Given the description of an element on the screen output the (x, y) to click on. 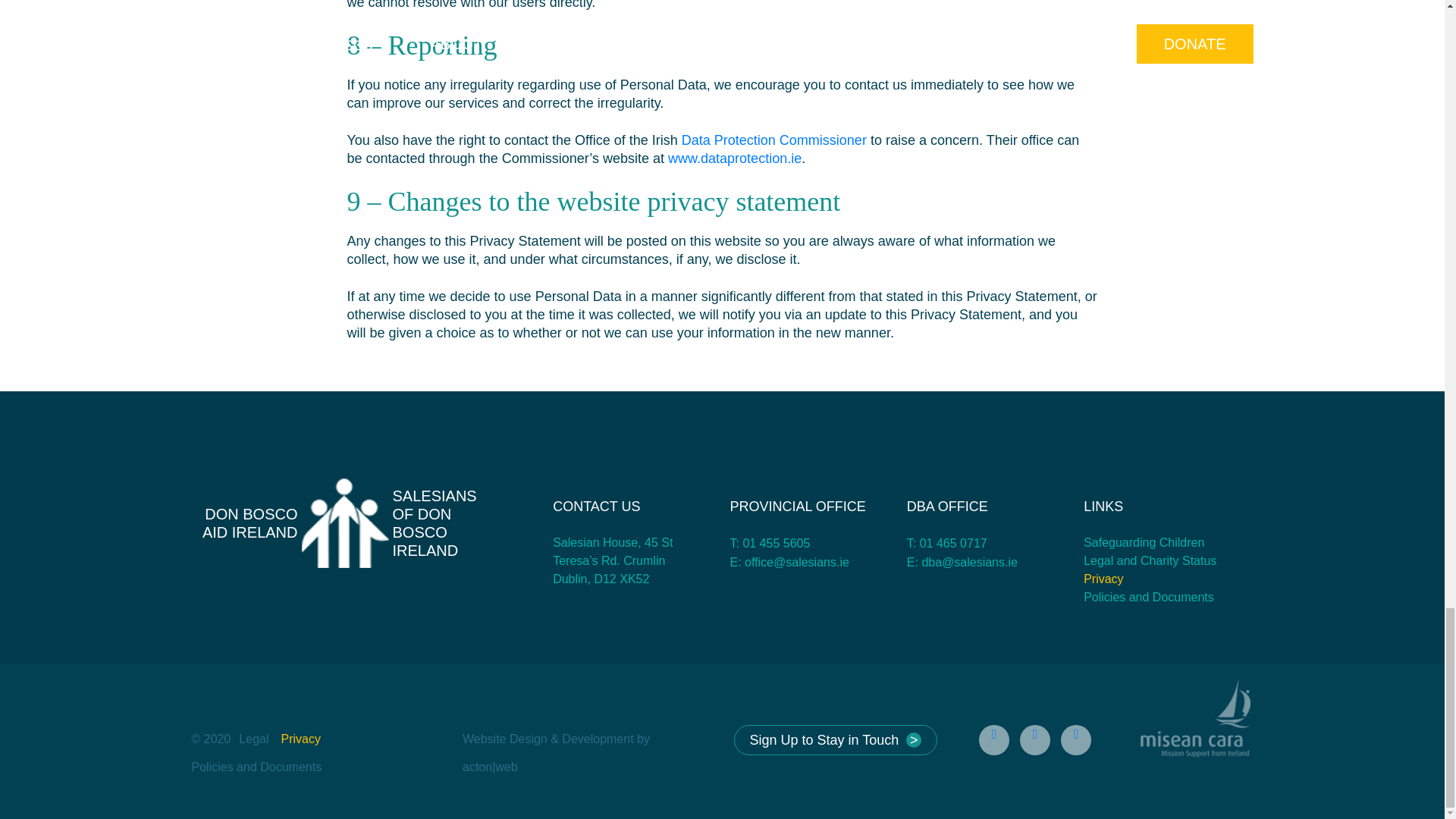
Data Protection Commissioner (773, 140)
T: 01 455 5605 (769, 543)
www.dataprotection.ie (343, 523)
T: 01 465 0717 (735, 158)
